Given the description of an element on the screen output the (x, y) to click on. 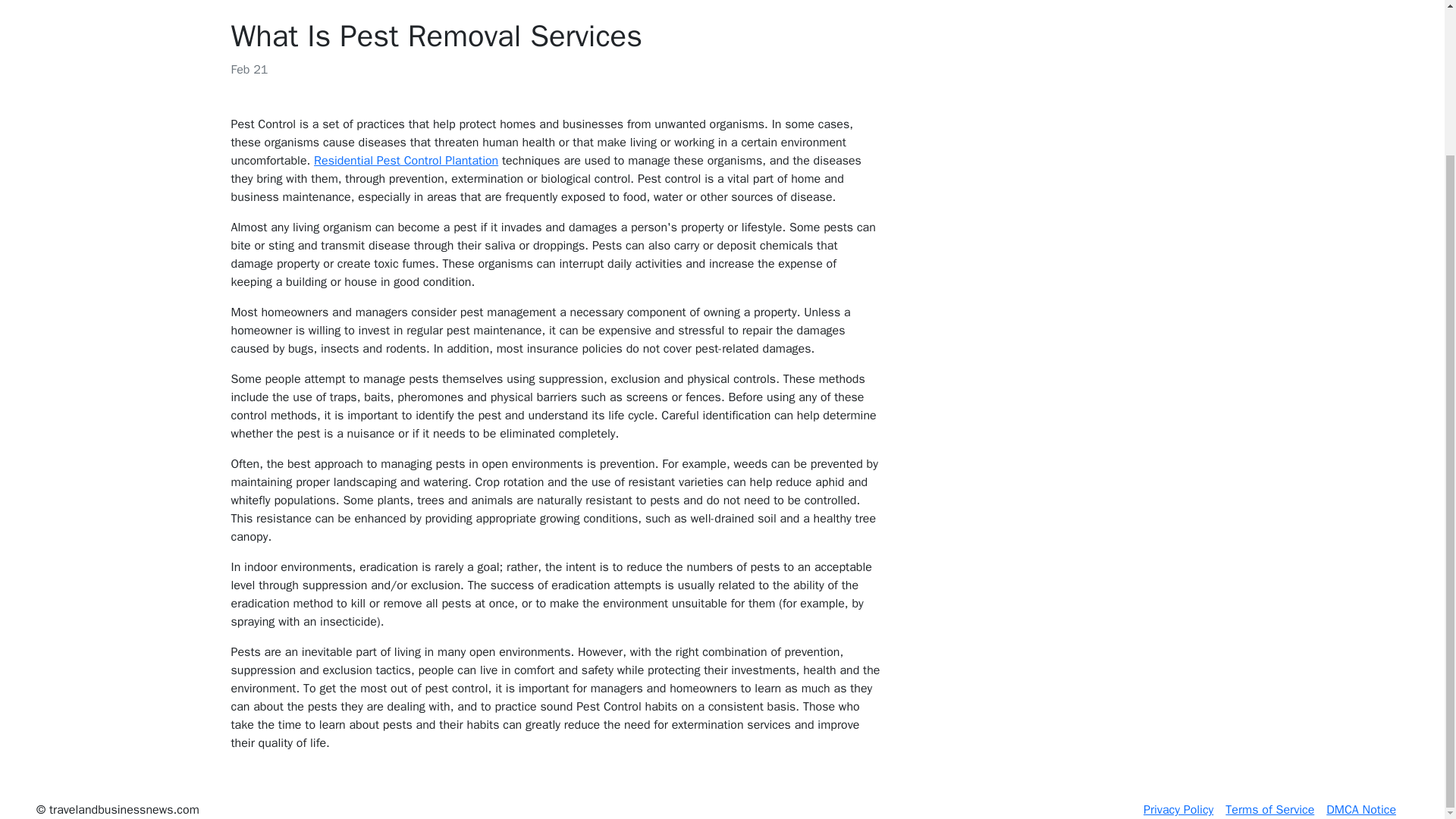
DMCA Notice (1361, 809)
Terms of Service (1269, 809)
Privacy Policy (1177, 809)
Residential Pest Control Plantation (405, 160)
